Given the description of an element on the screen output the (x, y) to click on. 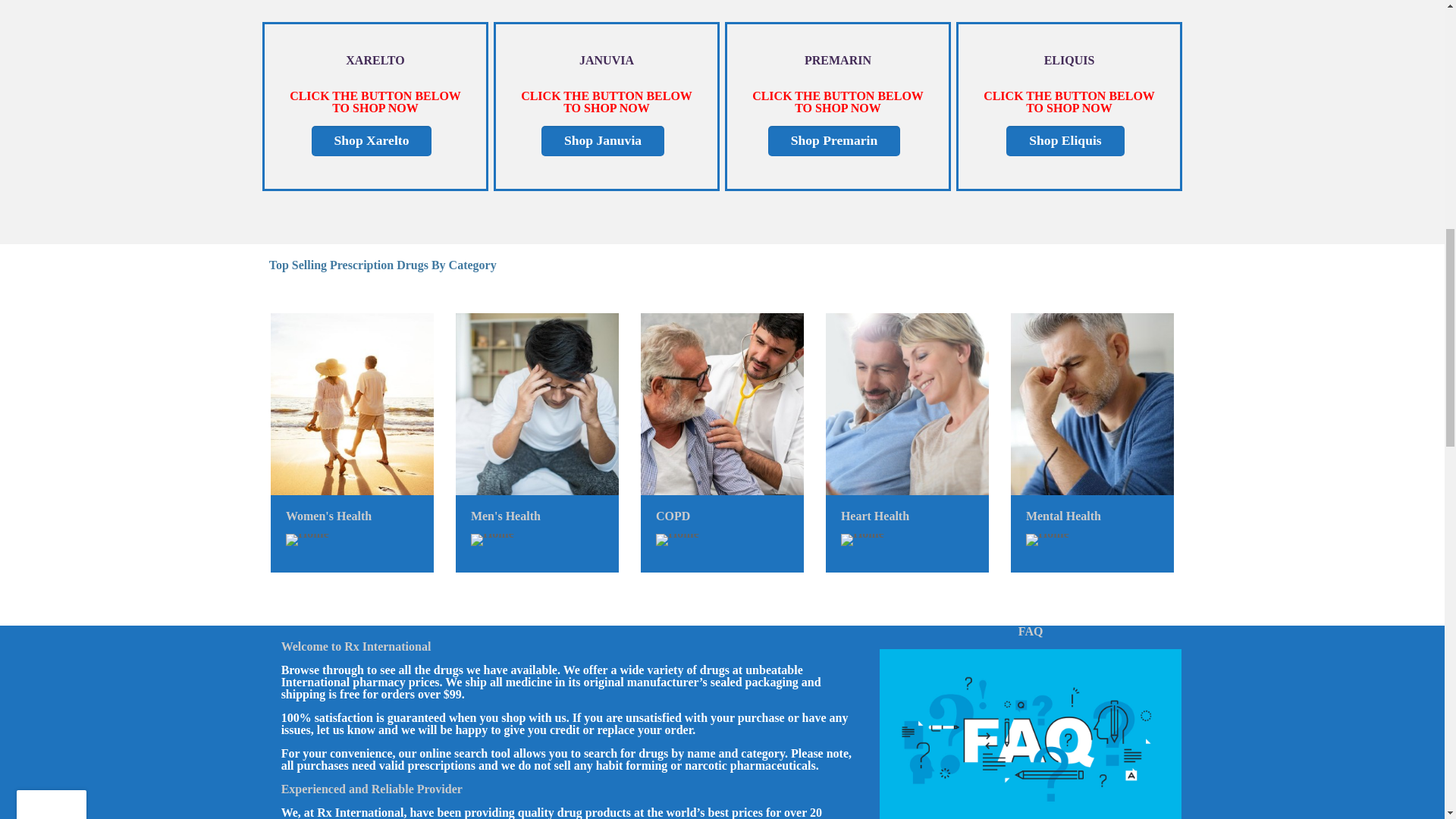
Shop Januvia (602, 141)
Men's Health (505, 515)
Shop Eliquis (1065, 141)
COPD (673, 515)
Women's Health (328, 515)
Shop Premarin (834, 141)
Shop Xarelto (371, 141)
